Given the description of an element on the screen output the (x, y) to click on. 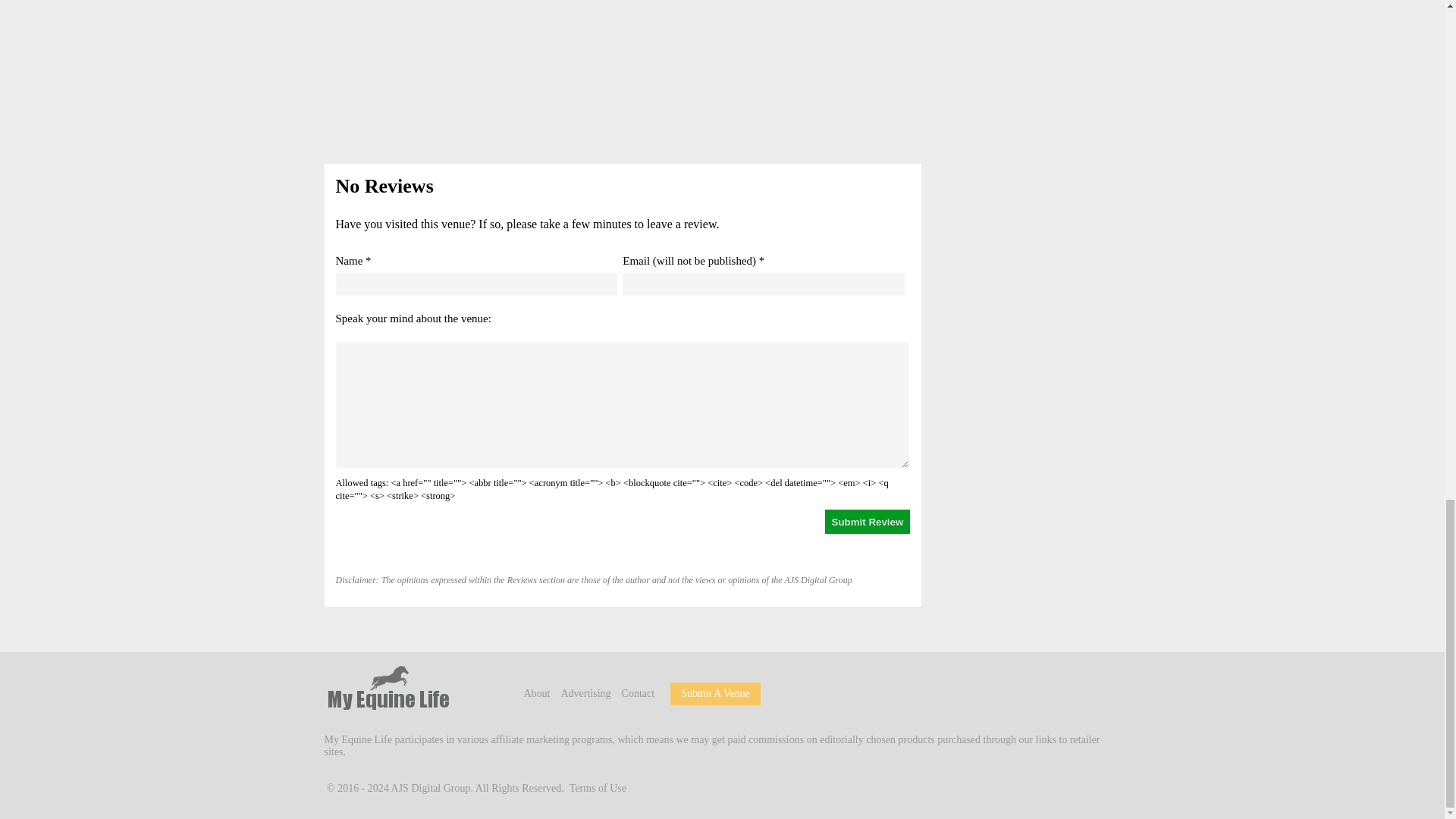
AJS Digital Group (430, 787)
Submit Review (867, 521)
Submit A Venue (715, 693)
Submit Review (867, 521)
Terms of Use (597, 787)
Advertising (585, 693)
Contact (638, 693)
About (536, 693)
